Given the description of an element on the screen output the (x, y) to click on. 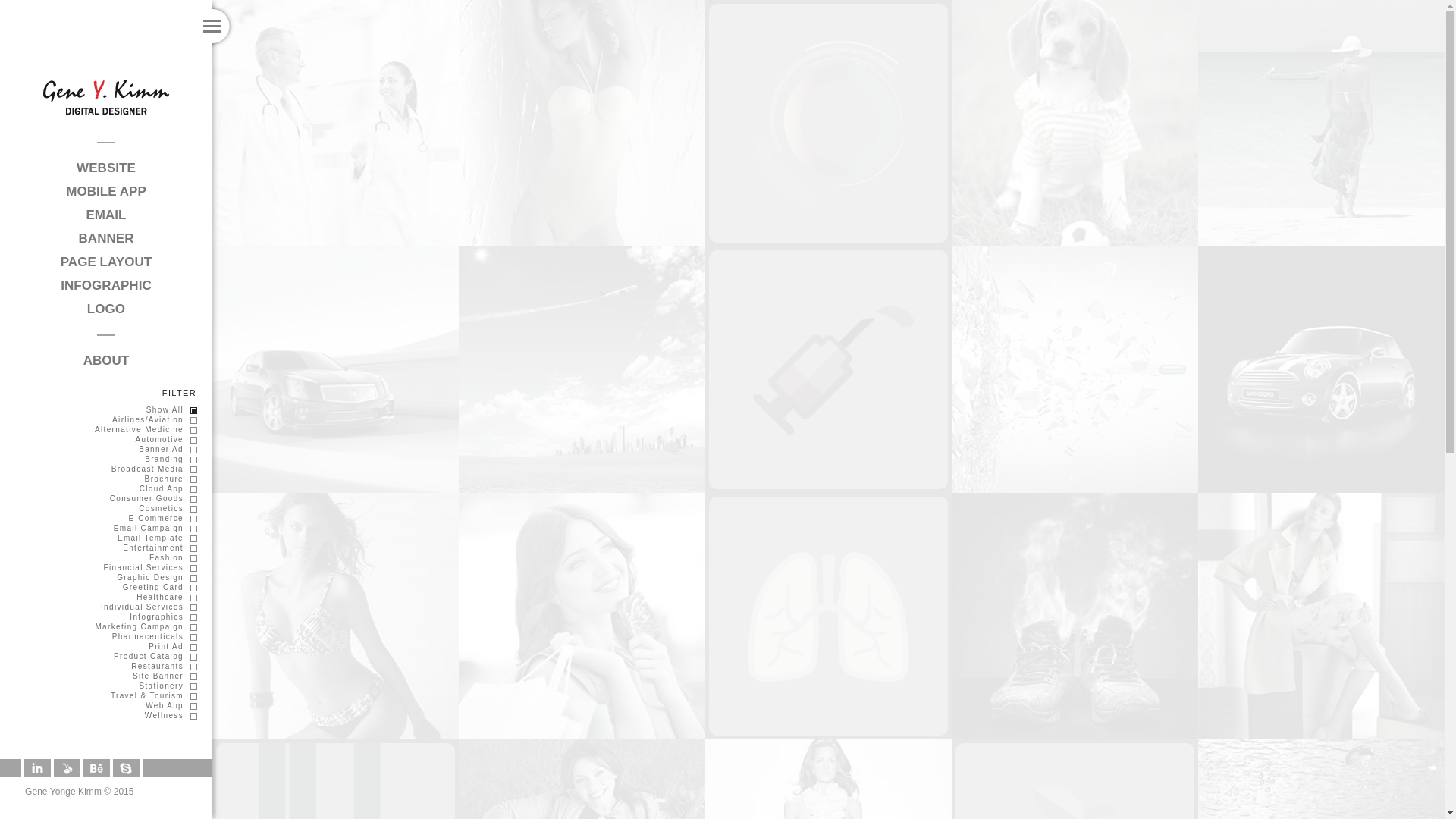
CONTACT (105, 383)
Entertainment (159, 547)
Email Template (156, 537)
EMAIL (105, 214)
Banner Ad (167, 449)
Email Campaign (154, 528)
Brochure (170, 479)
Greeting Card (159, 587)
Financial Services (149, 567)
Print Ad (172, 646)
